Given the description of an element on the screen output the (x, y) to click on. 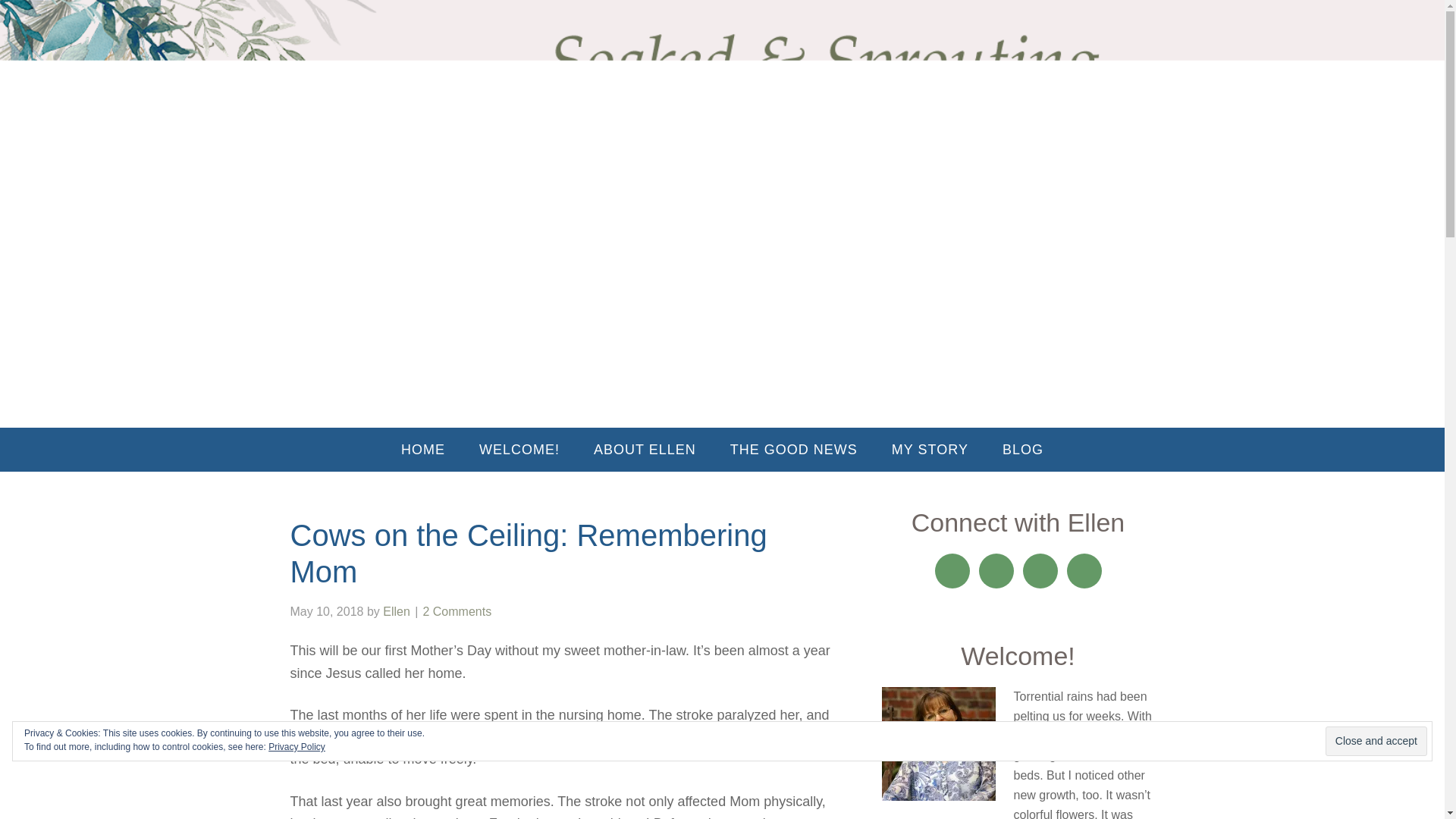
Close and accept (1375, 740)
2 Comments (457, 611)
Ellen (396, 611)
Privacy Policy (295, 747)
ABOUT ELLEN (644, 449)
Close and accept (1375, 740)
WELCOME! (519, 449)
THE GOOD NEWS (793, 449)
MY STORY (930, 449)
HOME (422, 449)
